Given the description of an element on the screen output the (x, y) to click on. 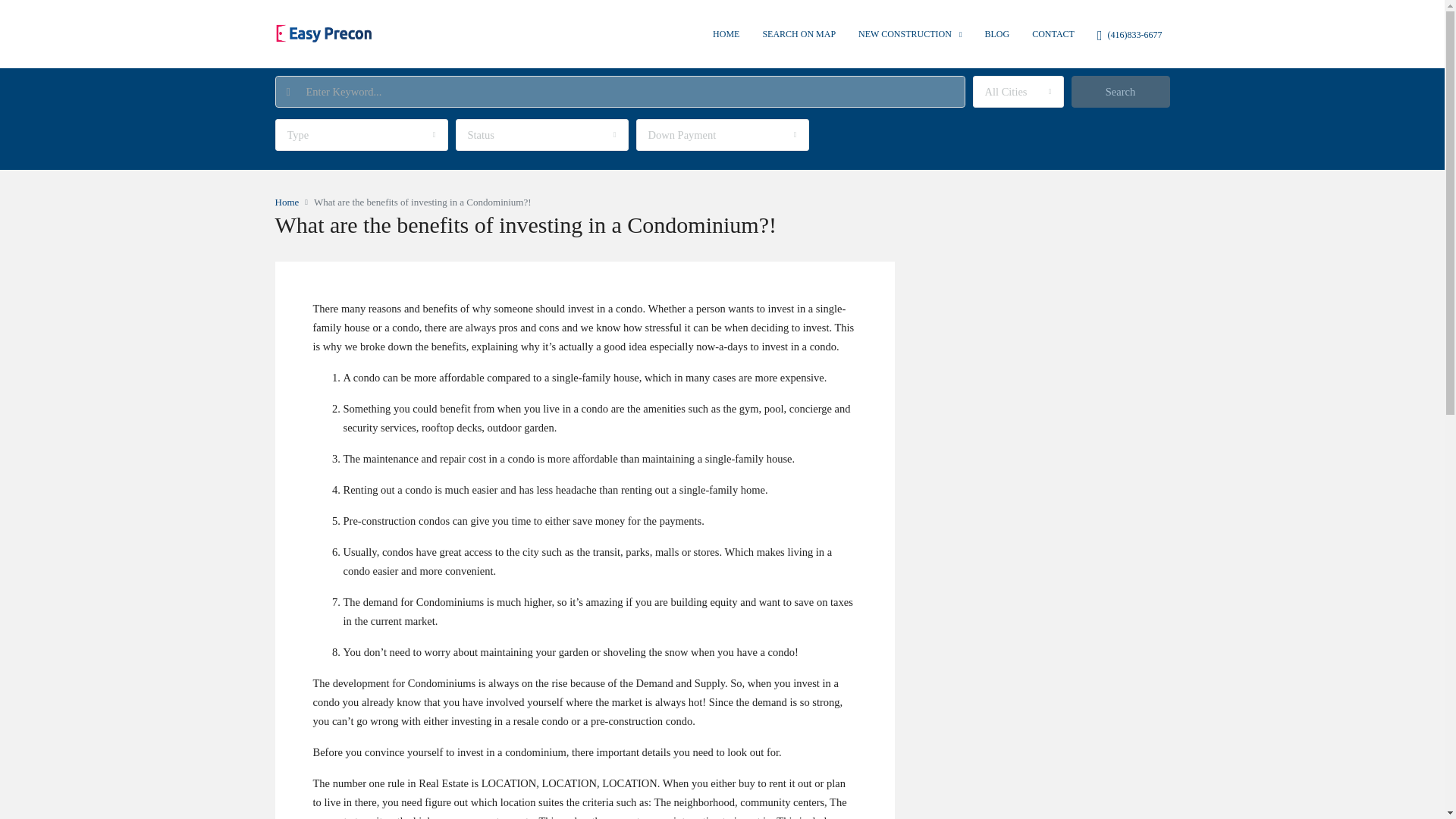
All Cities (1017, 91)
Status (540, 134)
NEW CONSTRUCTION (909, 34)
Type (360, 134)
SEARCH ON MAP (799, 33)
HOME (726, 33)
Down Payment (721, 134)
